Given the description of an element on the screen output the (x, y) to click on. 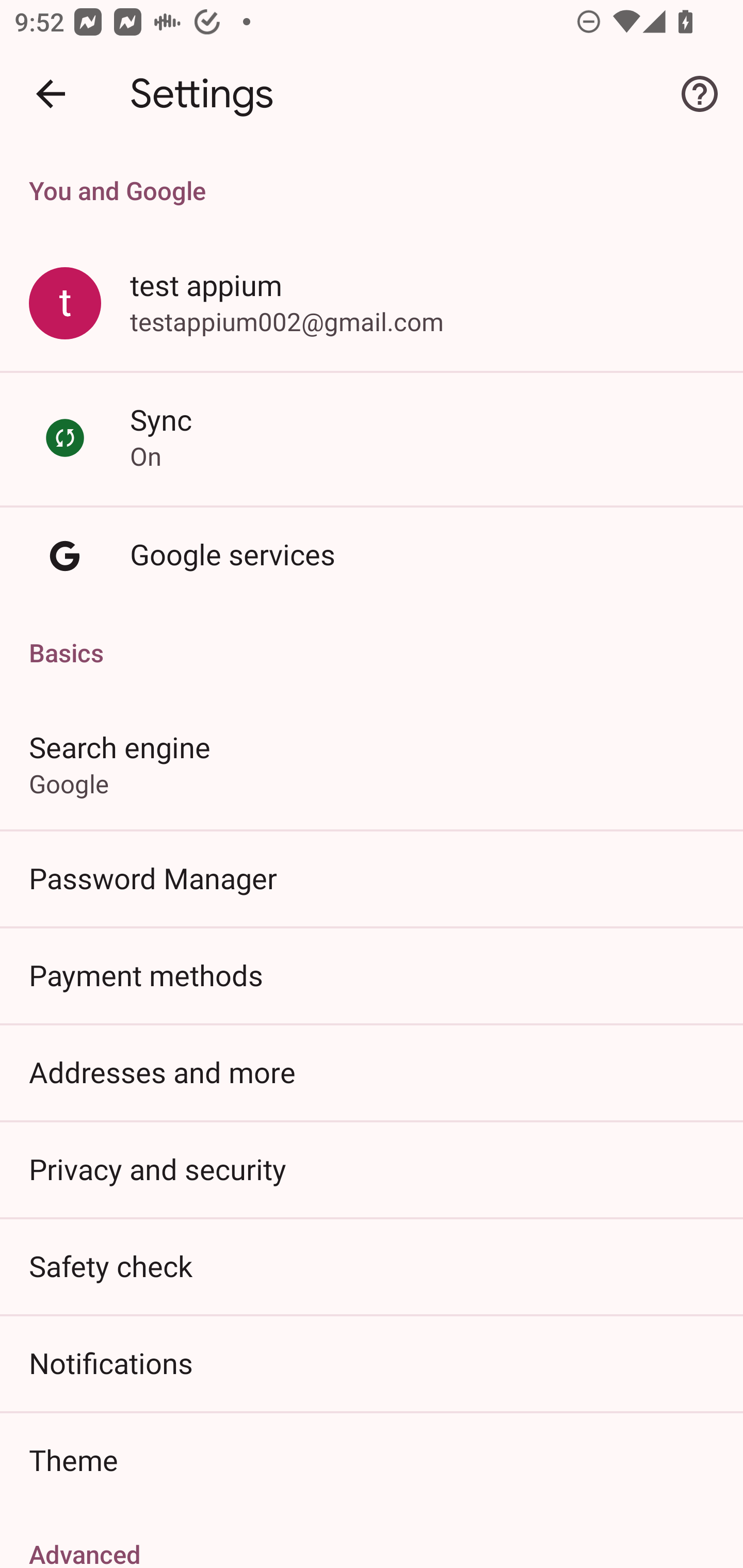
Navigate up (50, 93)
Help & feedback (699, 93)
test appium testappium002@gmail.com (371, 303)
Sync On (371, 437)
Google services (371, 555)
Search engine Google (371, 763)
Password Manager (371, 877)
Payment methods (371, 974)
Addresses and more (371, 1071)
Privacy and security (371, 1167)
Safety check (371, 1264)
Notifications (371, 1362)
Theme (371, 1459)
